Given the description of an element on the screen output the (x, y) to click on. 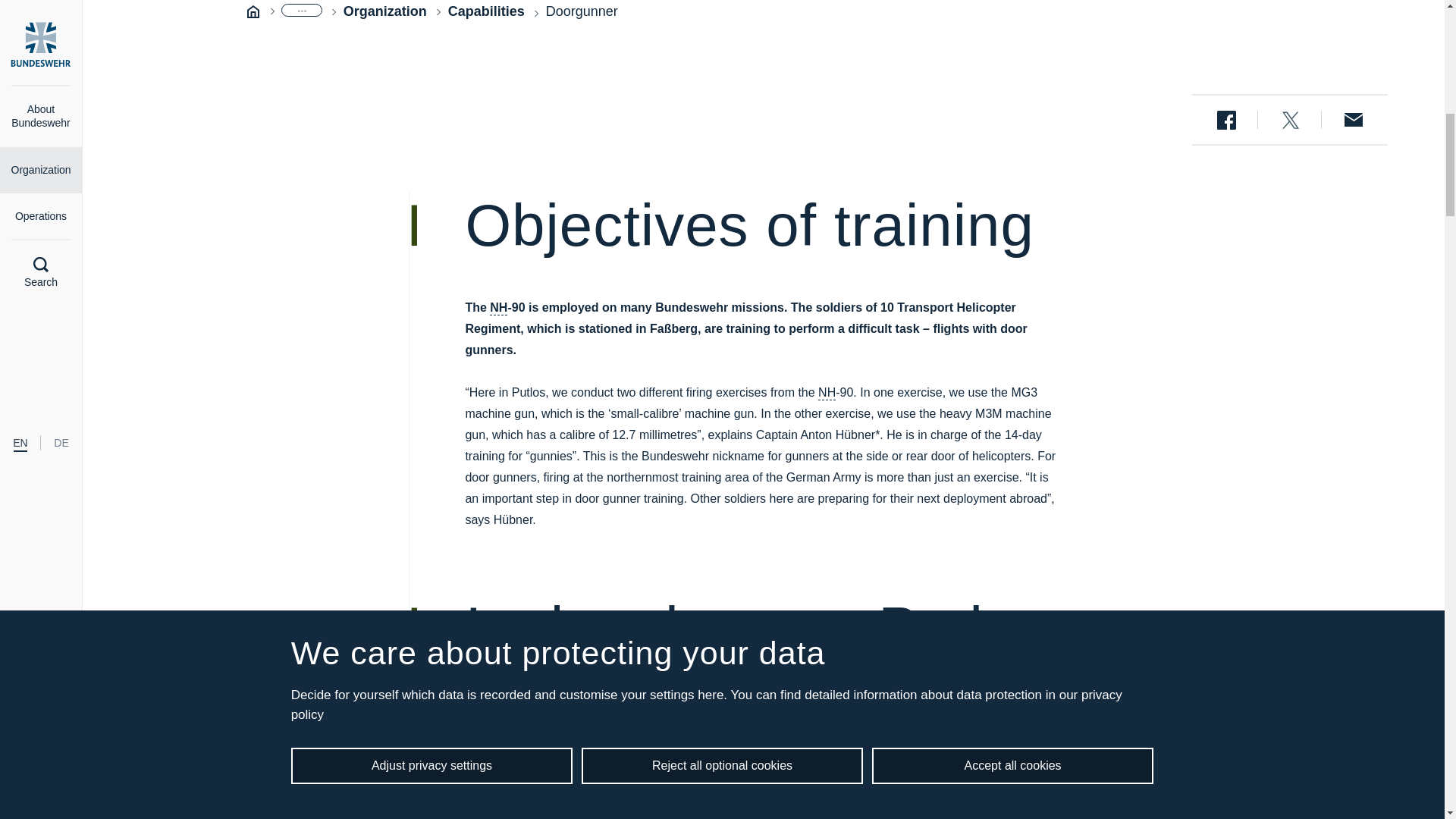
NATO-Helicopter (497, 308)
NATO-Helicopter (826, 392)
Capabilities (486, 12)
Doorgunner (581, 11)
Hompage (253, 10)
Organization (384, 12)
